Given the description of an element on the screen output the (x, y) to click on. 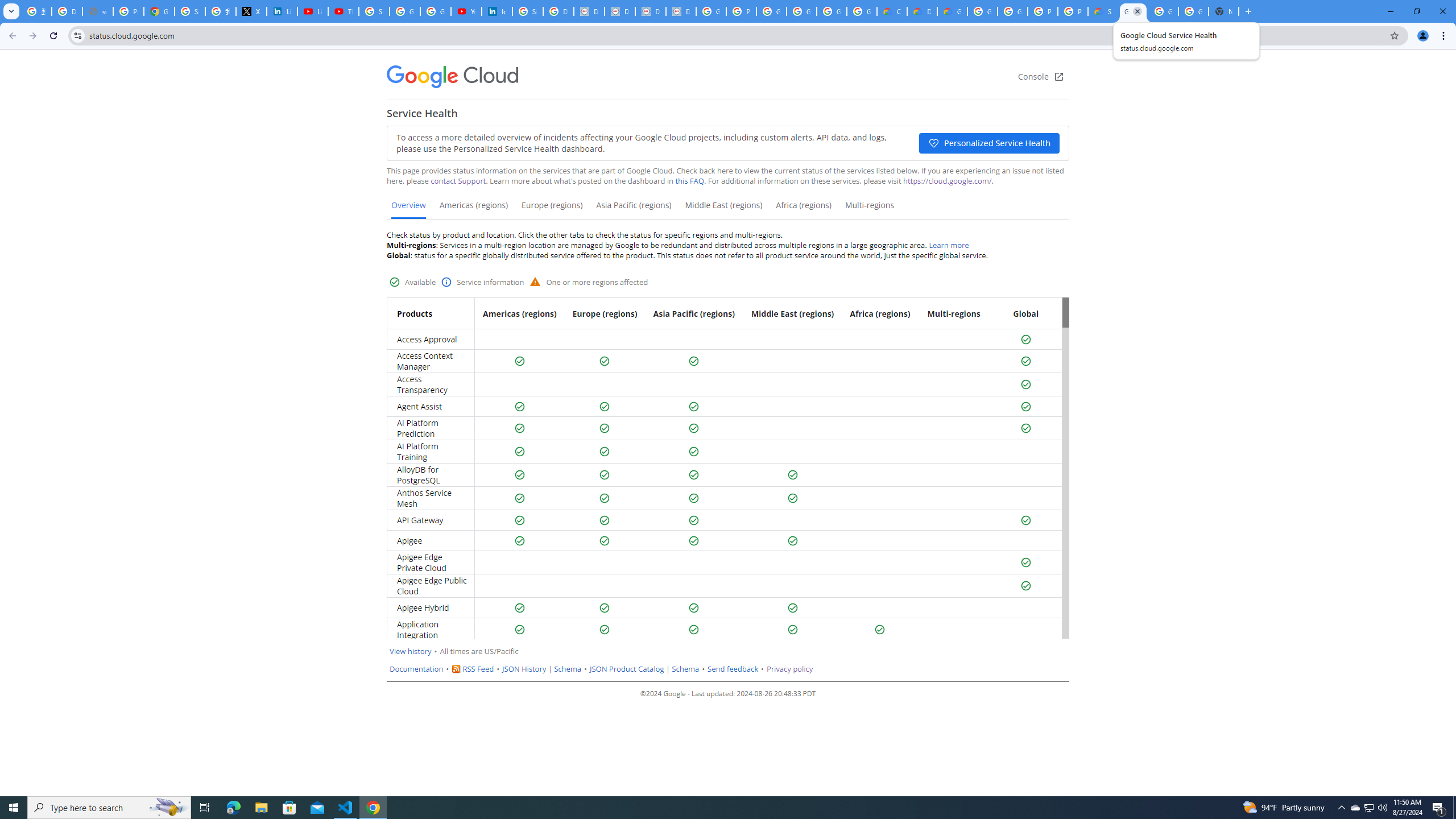
Middle East (regions) (723, 209)
Informational status (446, 281)
LinkedIn Privacy Policy (282, 11)
support.google.com - Network error (97, 11)
Google Cloud Platform (1012, 11)
Google Workspace - Specific Terms (830, 11)
Asia Pacific (regions) (633, 209)
